Given the description of an element on the screen output the (x, y) to click on. 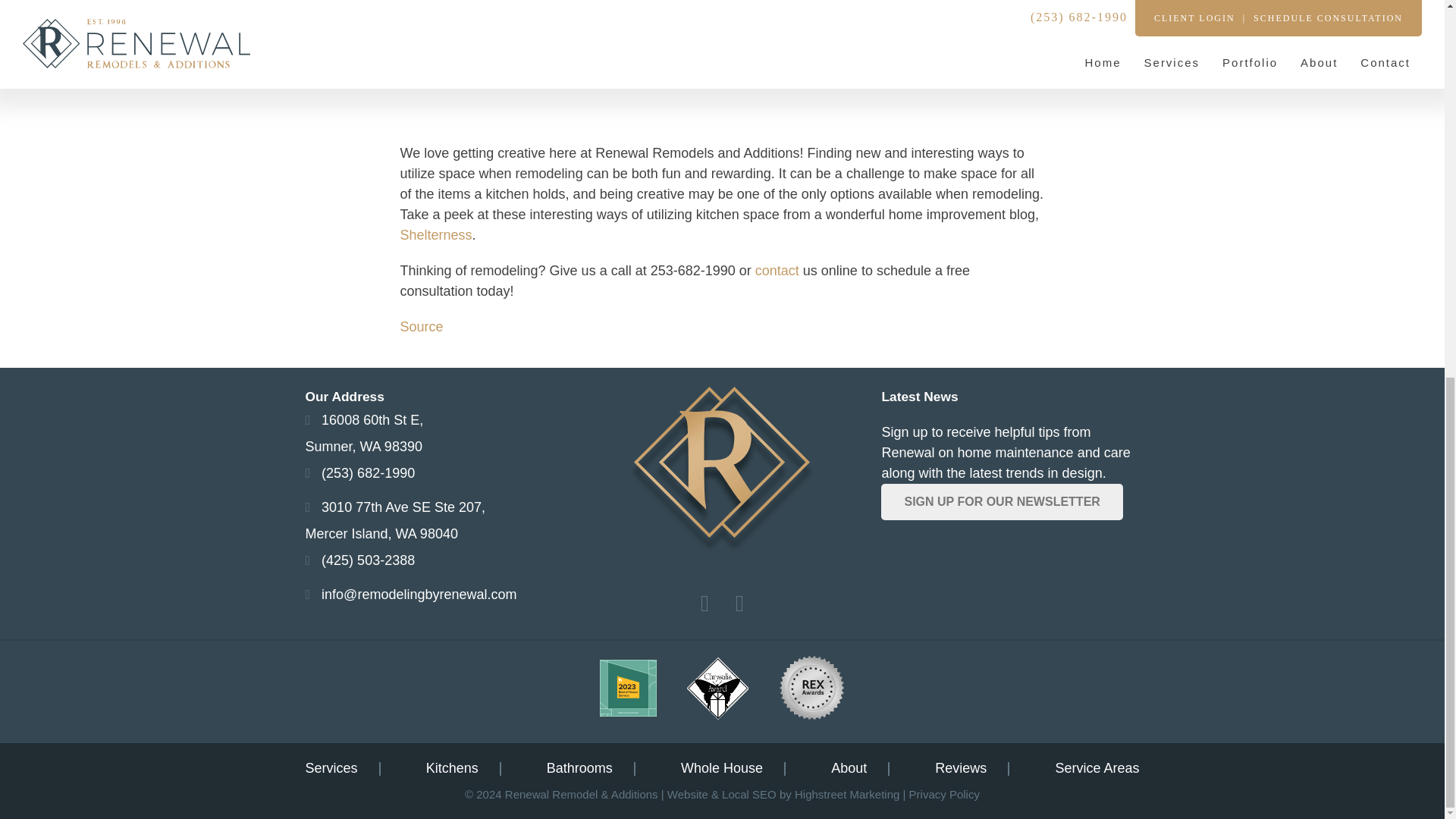
contact (777, 270)
remodelingbyrenewal (721, 60)
Source (422, 326)
Creative Kitchen Storage Ideas (422, 326)
Contact Us (363, 433)
Shelterness (394, 520)
Shelterness (777, 270)
